Given the description of an element on the screen output the (x, y) to click on. 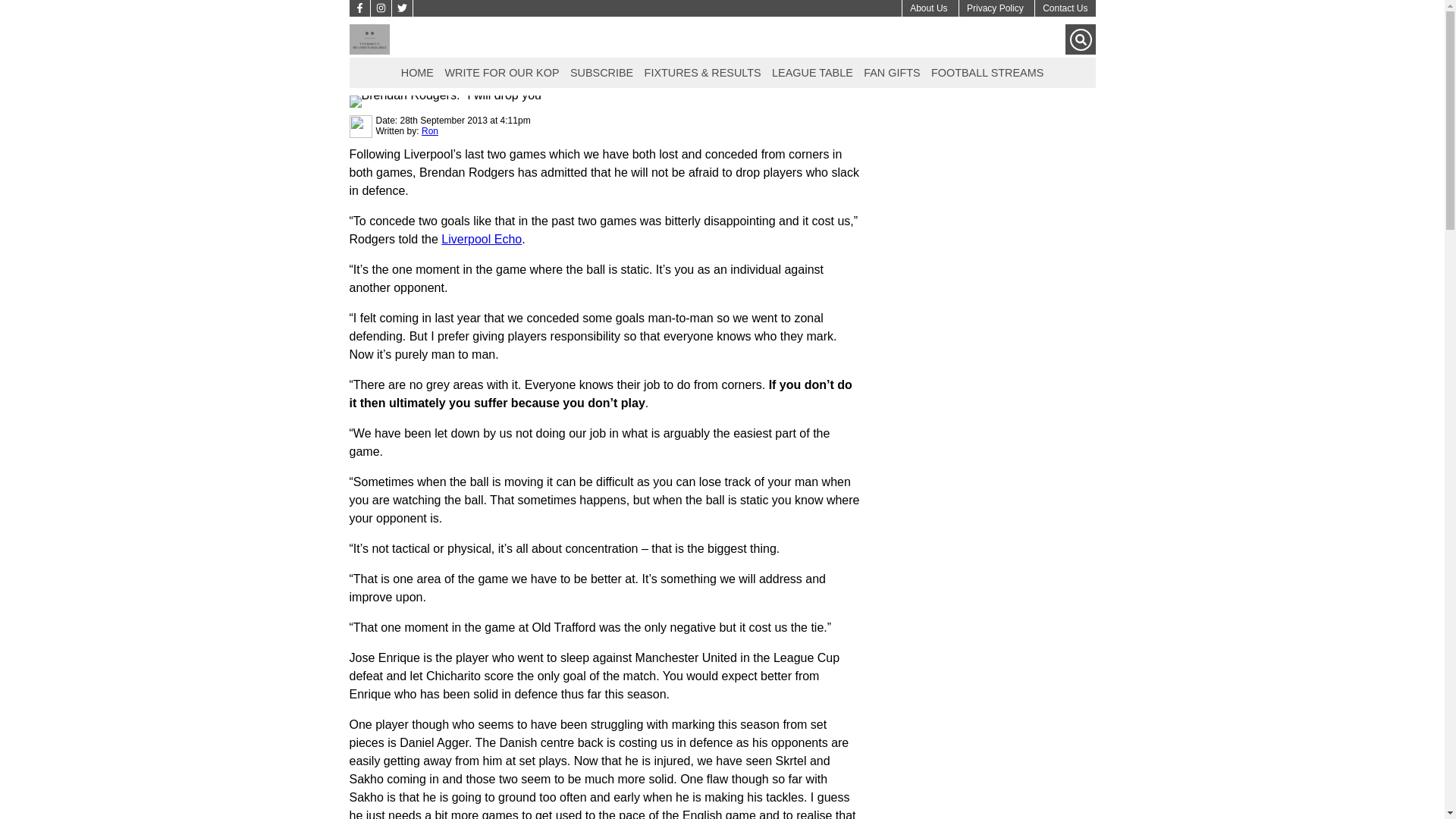
FOOTBALL STREAMS (986, 70)
About Us (928, 8)
Ron (430, 131)
SUBSCRIBE (601, 70)
FAN GIFTS (891, 70)
Privacy Policy (994, 8)
Liverpool Echo (481, 238)
Posts by Ron (430, 131)
Contact Us (1064, 8)
WRITE FOR OUR KOP (501, 70)
LEAGUE TABLE (812, 70)
HOME (417, 70)
